Given the description of an element on the screen output the (x, y) to click on. 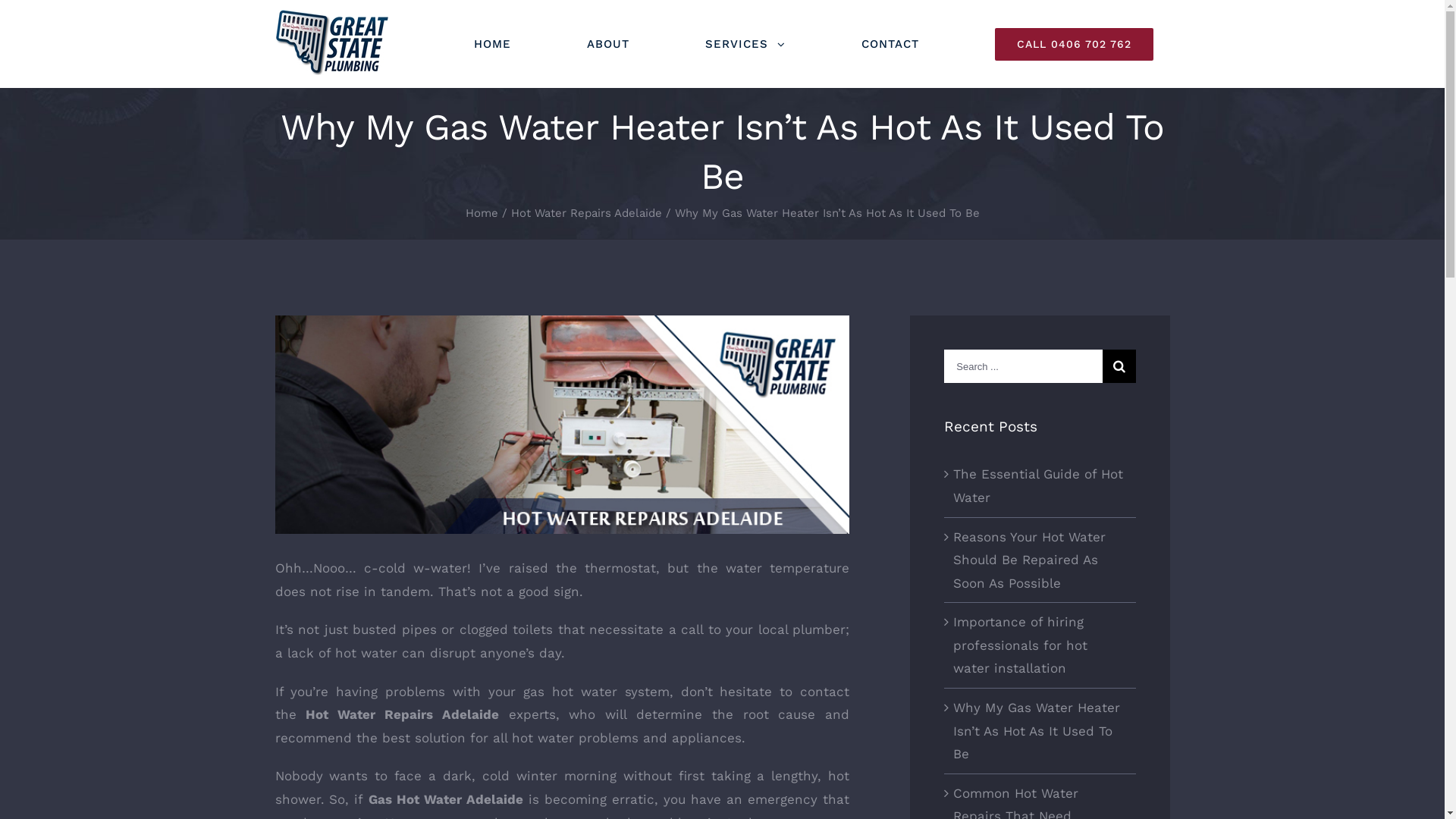
Home Element type: text (481, 212)
The Essential Guide of Hot Water Element type: text (1038, 485)
ABOUT Element type: text (608, 43)
CALL 0406 702 762 Element type: text (1074, 43)
Hot Water Repairs Adelaide Element type: text (586, 212)
Hot Water Repairs Adelaide Element type: text (401, 713)
View Larger Image Element type: text (561, 424)
CONTACT Element type: text (889, 43)
Great State Plumbing - Hot Water Repairs Adelaide Element type: hover (331, 42)
SERVICES Element type: text (745, 43)
HOME Element type: text (491, 43)
